Given the description of an element on the screen output the (x, y) to click on. 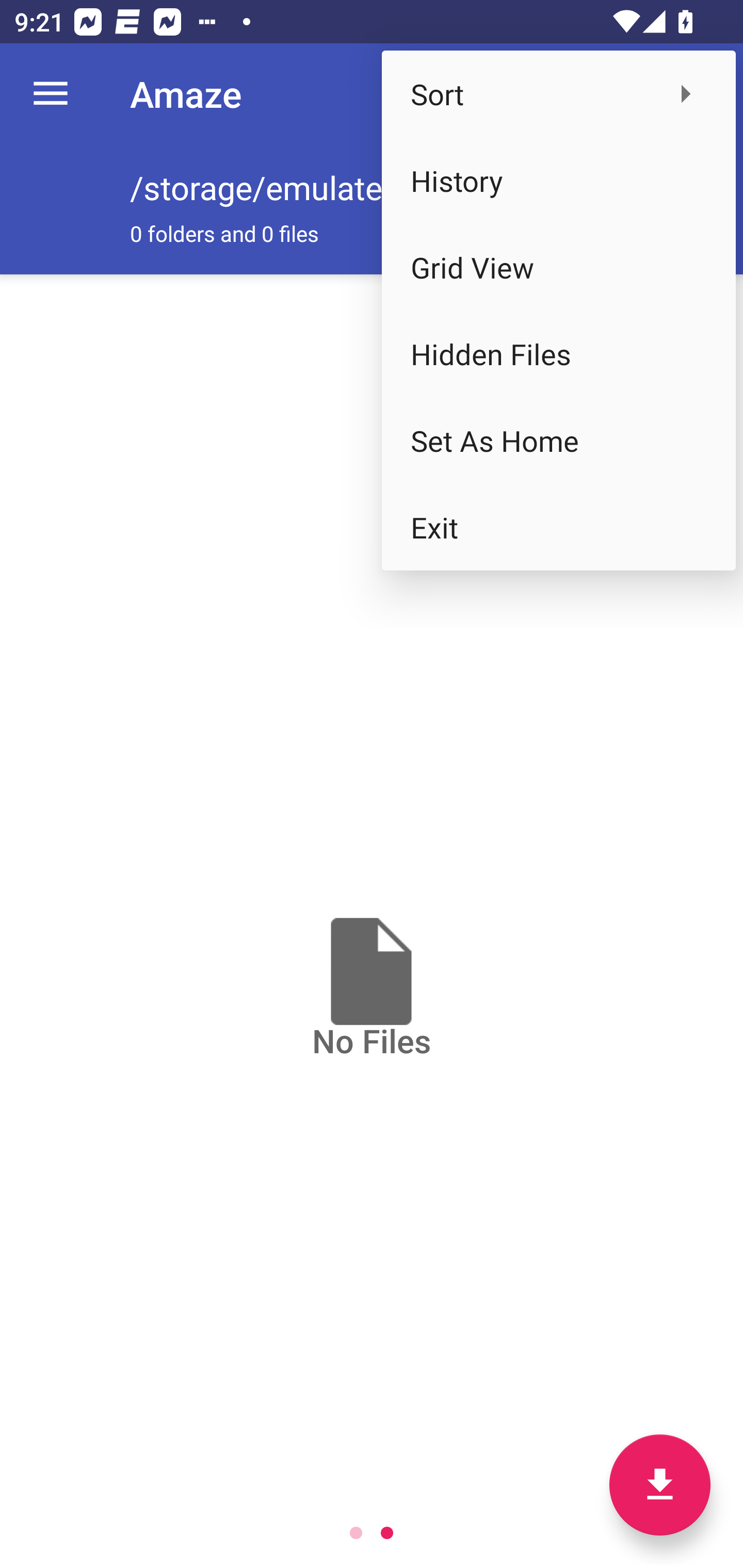
Sort (558, 93)
History (558, 180)
Grid View (558, 267)
Hidden Files (558, 353)
Set As Home (558, 440)
Exit (558, 527)
